Given the description of an element on the screen output the (x, y) to click on. 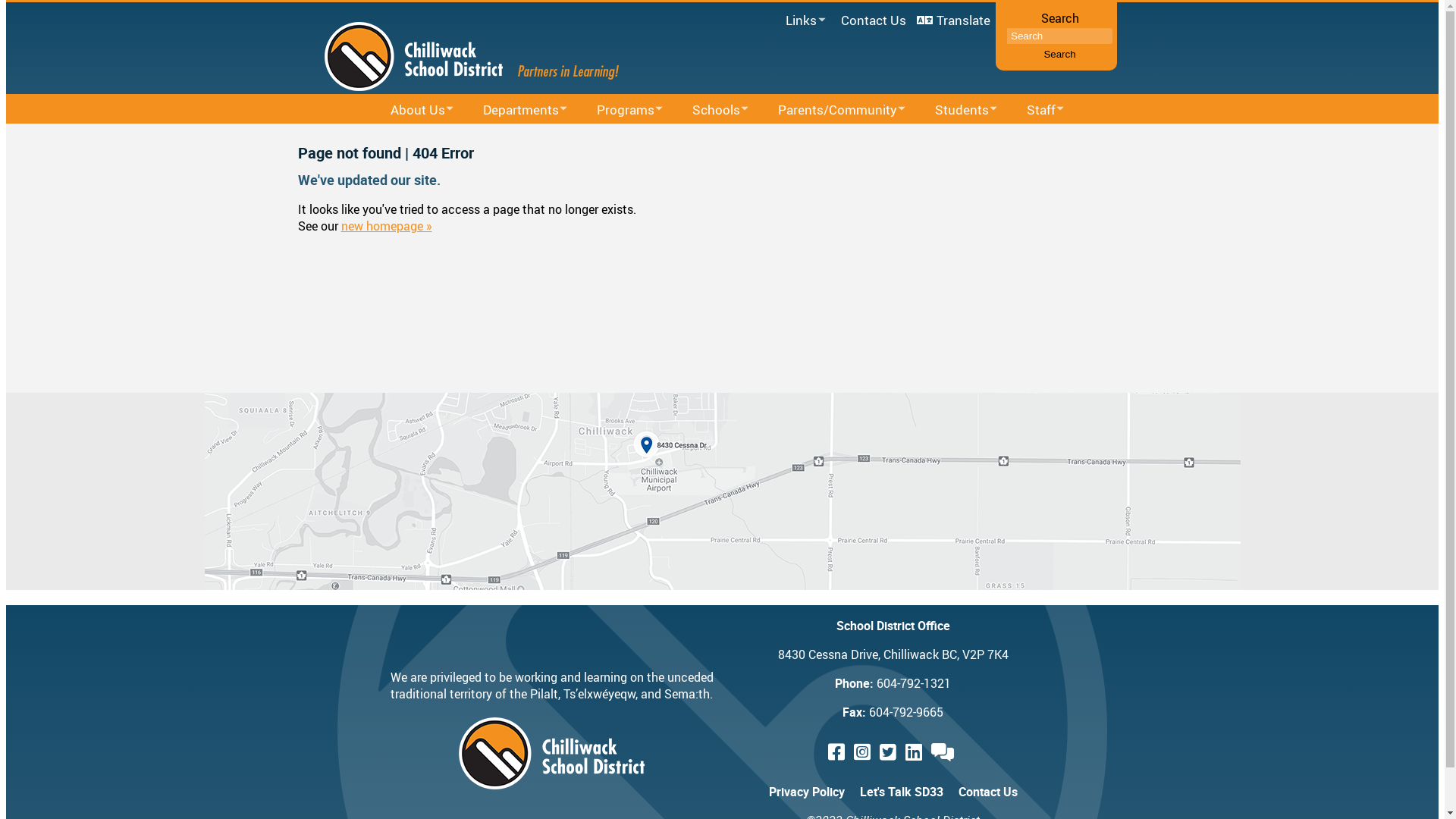
BAA Courses Element type: text (720, 138)
Privacy Policy Element type: text (806, 791)
LinkedIn Element type: hover (915, 751)
BC Homeschool And Online Learning Element type: text (876, 138)
Enter the terms you wish to search for. Element type: hover (1059, 35)
  Element type: text (864, 751)
  Element type: text (889, 751)
BC Grad Program Handbook Element type: text (1030, 138)
Twitter Element type: hover (889, 751)
  Element type: text (838, 751)
Translate Element type: text (953, 19)
School Directory Element type: text (764, 138)
Contact Us Element type: text (987, 791)
Office 365 Element type: text (455, 138)
Let's Talk SD33 Element type: text (901, 791)
Contact Us Element type: text (873, 19)
Lets Talk SD33 Element type: hover (944, 751)
  Element type: text (944, 751)
District Profile Element type: text (509, 138)
Skip to main content Element type: text (6, 0)
Facilities Department Element type: text (571, 138)
Instagram Element type: hover (864, 751)
Facebook Element type: hover (838, 751)
Search Element type: text (1058, 53)
Office 365 Element type: text (784, 40)
  Element type: text (915, 751)
Careers Element type: text (1096, 138)
